Given the description of an element on the screen output the (x, y) to click on. 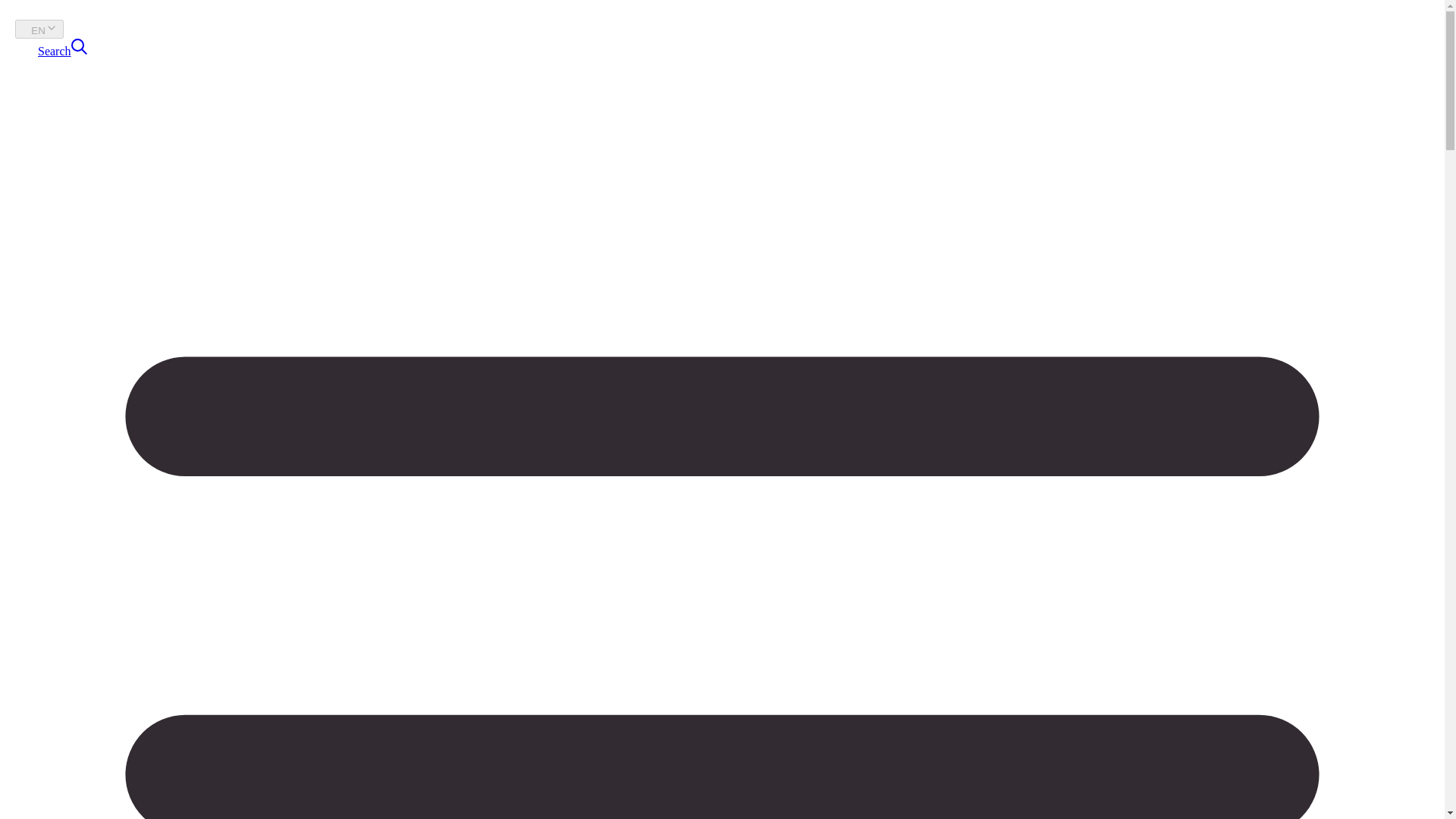
EN (39, 28)
Search (62, 50)
